Given the description of an element on the screen output the (x, y) to click on. 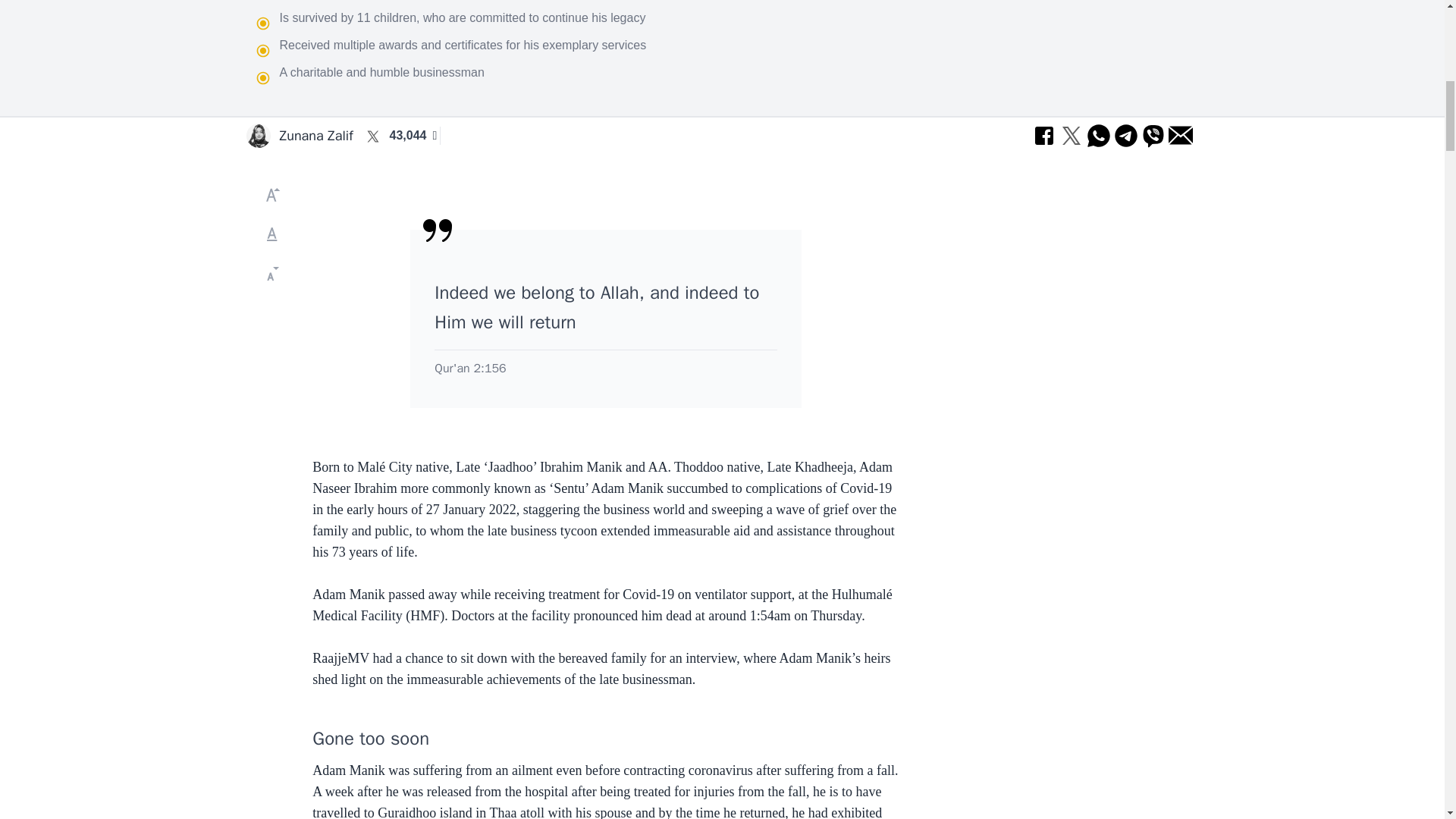
Zunana Zalif (315, 135)
